Given the description of an element on the screen output the (x, y) to click on. 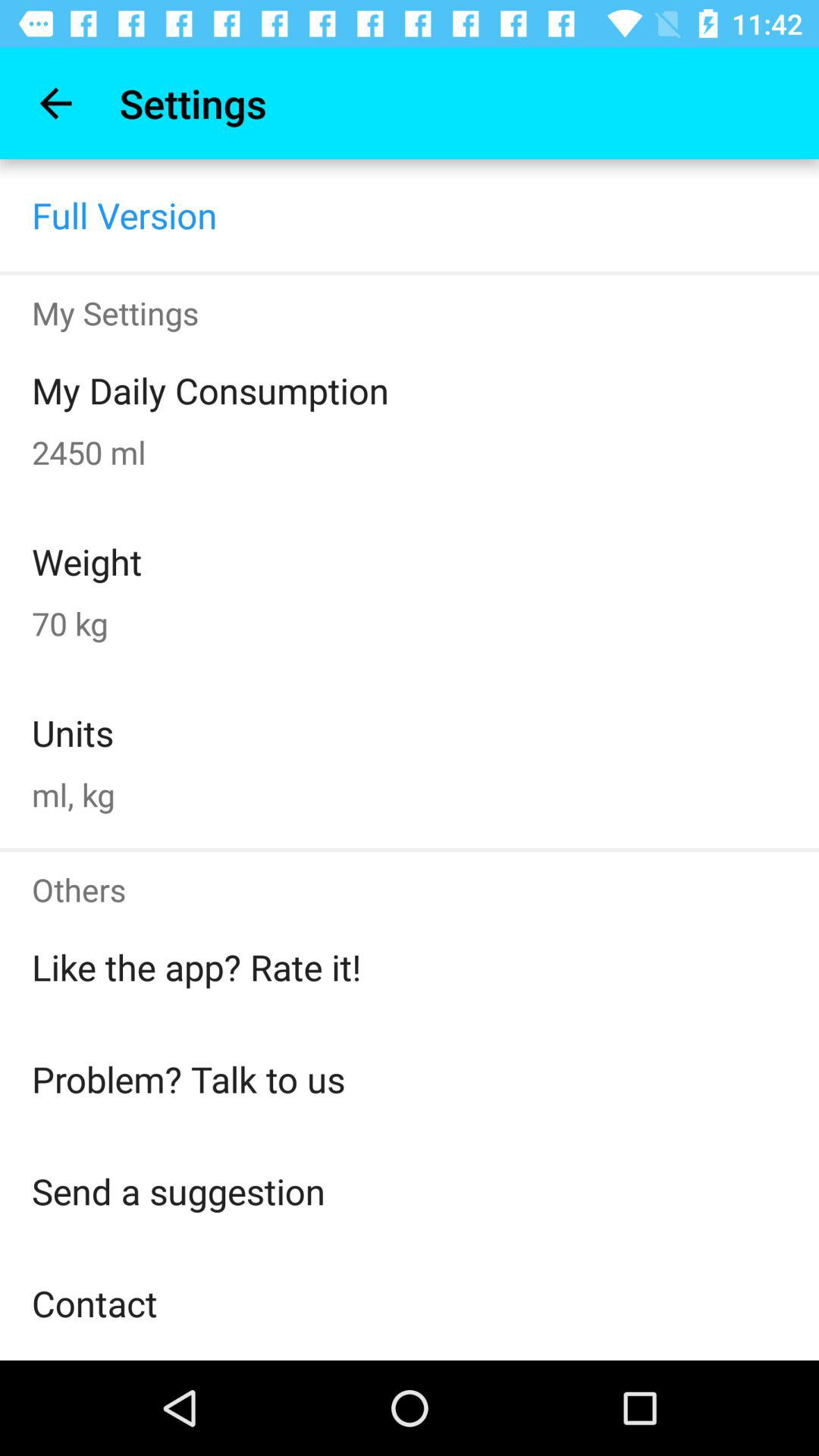
choose the item to the left of settings icon (55, 103)
